Given the description of an element on the screen output the (x, y) to click on. 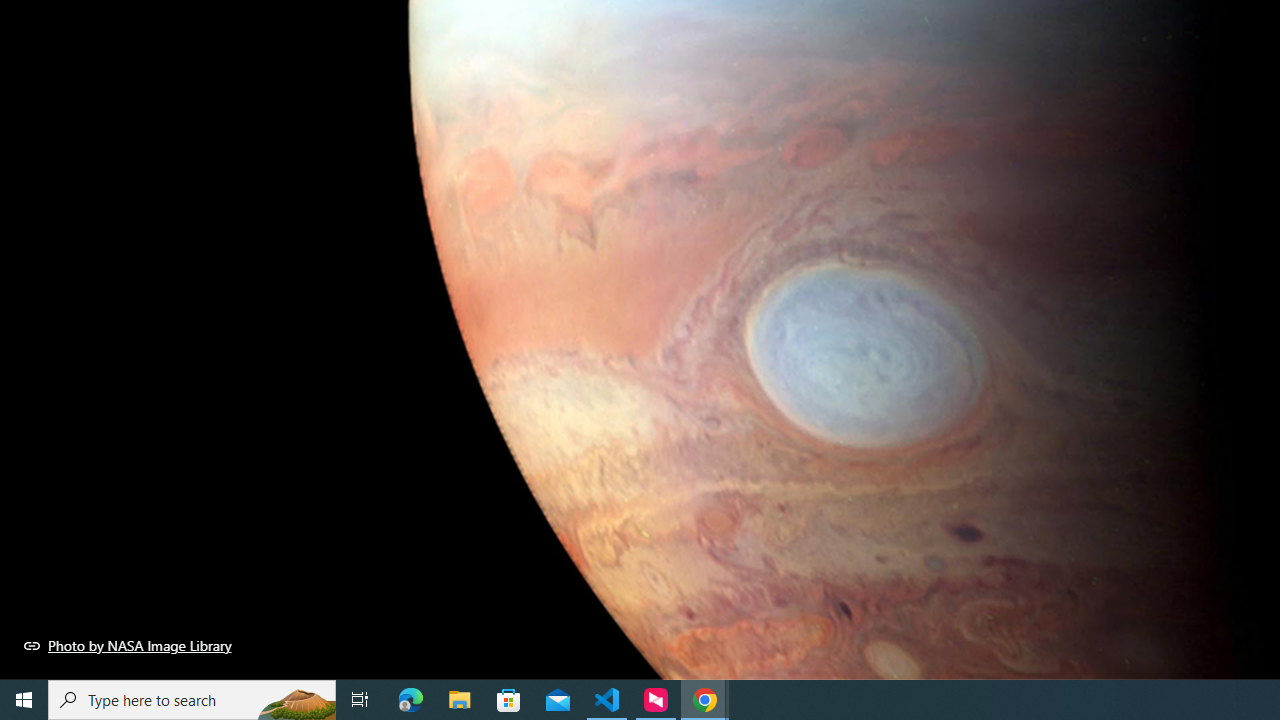
Photo by NASA Image Library (127, 645)
